Given the description of an element on the screen output the (x, y) to click on. 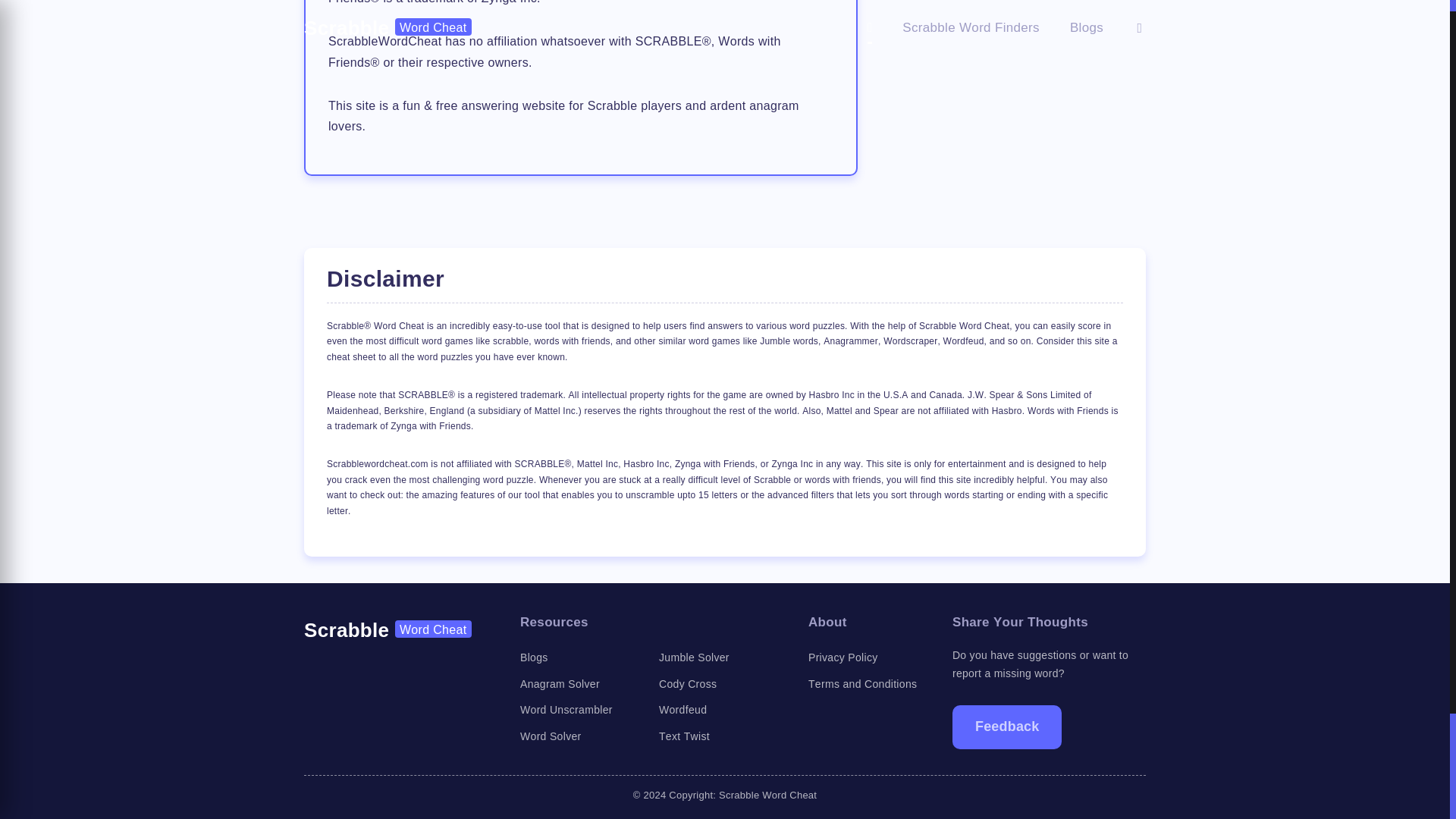
Word Solver (549, 736)
Privacy Policy (842, 657)
Terms and Conditions (862, 684)
Word Unscrambler (565, 709)
Scrabble Word Cheat (387, 630)
Text Twist (684, 736)
Cody Cross (687, 684)
Blogs (533, 657)
Wordfeud (682, 709)
Jumble Solver (694, 657)
Anagram Solver (559, 684)
